Given the description of an element on the screen output the (x, y) to click on. 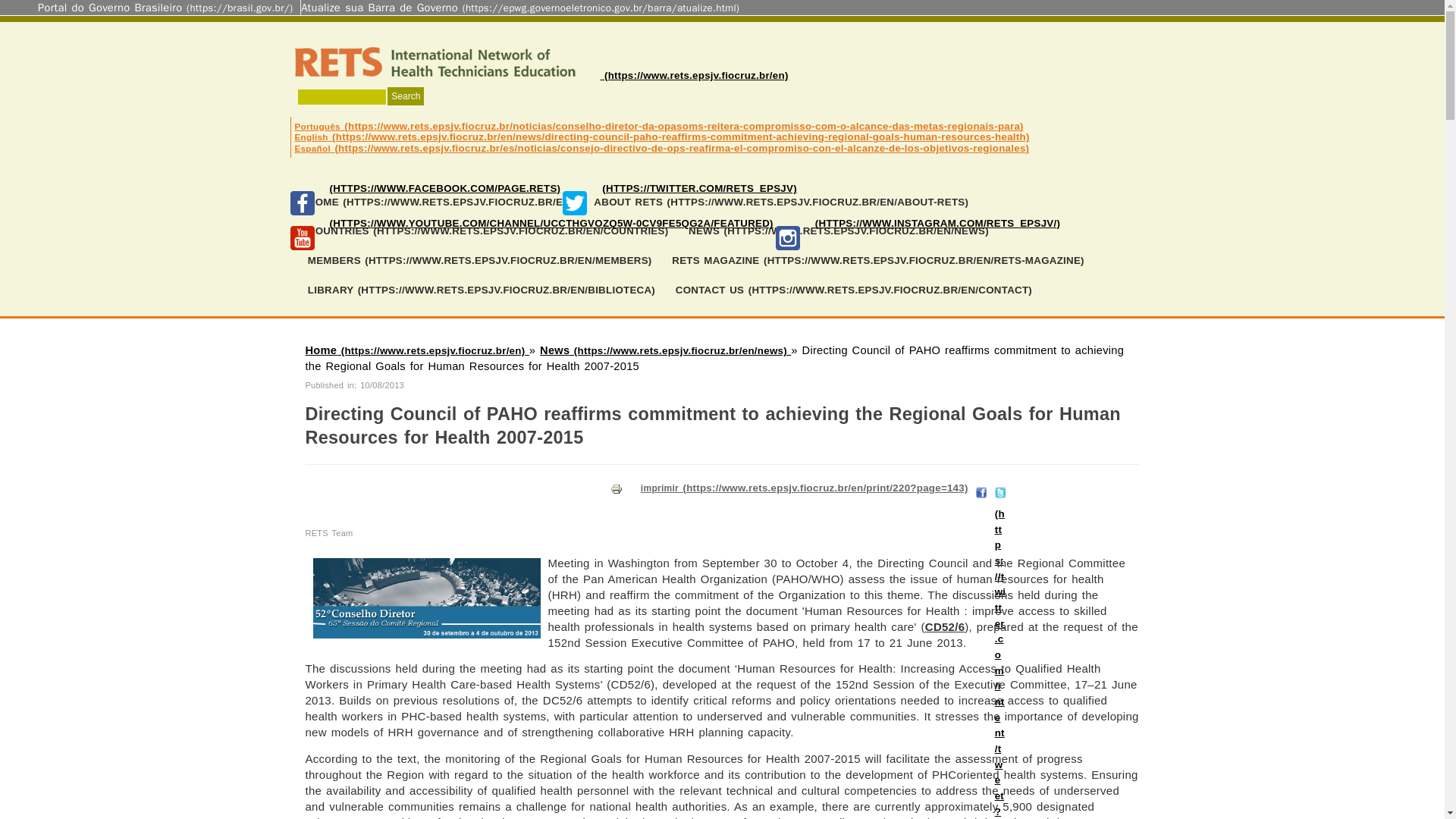
About RETS (780, 202)
RETS Magazine (878, 261)
News (665, 349)
Countries (487, 231)
RETS MAGAZINE (878, 261)
English (661, 136)
COUNTRIES (487, 231)
imprimir (618, 489)
Compartilhar no Facebook (981, 489)
Enter the terms you wish to search for. (341, 96)
Compartilhar no Twitter (1000, 489)
LIBRARY (481, 290)
Portal do Governo Brasileiro (164, 7)
News (838, 231)
